Given the description of an element on the screen output the (x, y) to click on. 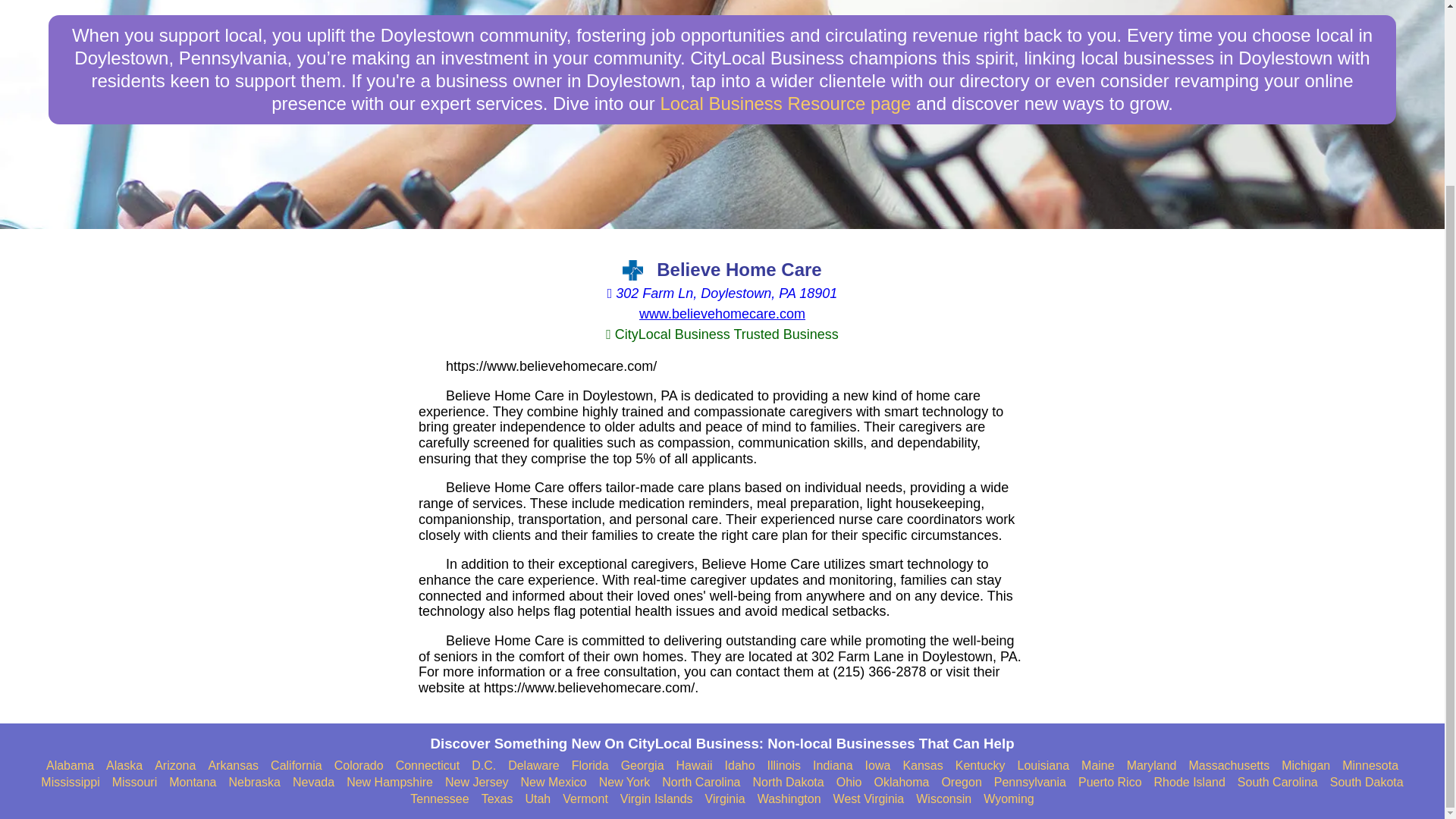
Find Businesses in Alabama (70, 766)
Maryland (1151, 766)
Iowa (877, 766)
Kansas (922, 766)
Find Businesses in Colorado (359, 766)
Find Businesses in Georgia (642, 766)
Alabama (70, 766)
Delaware (533, 766)
Find Businesses in Alaska (124, 766)
Find Businesses in Delaware (533, 766)
Find Businesses in Arkansas (233, 766)
Local Business Resources (785, 103)
Maine (1098, 766)
Missouri (134, 782)
